Given the description of an element on the screen output the (x, y) to click on. 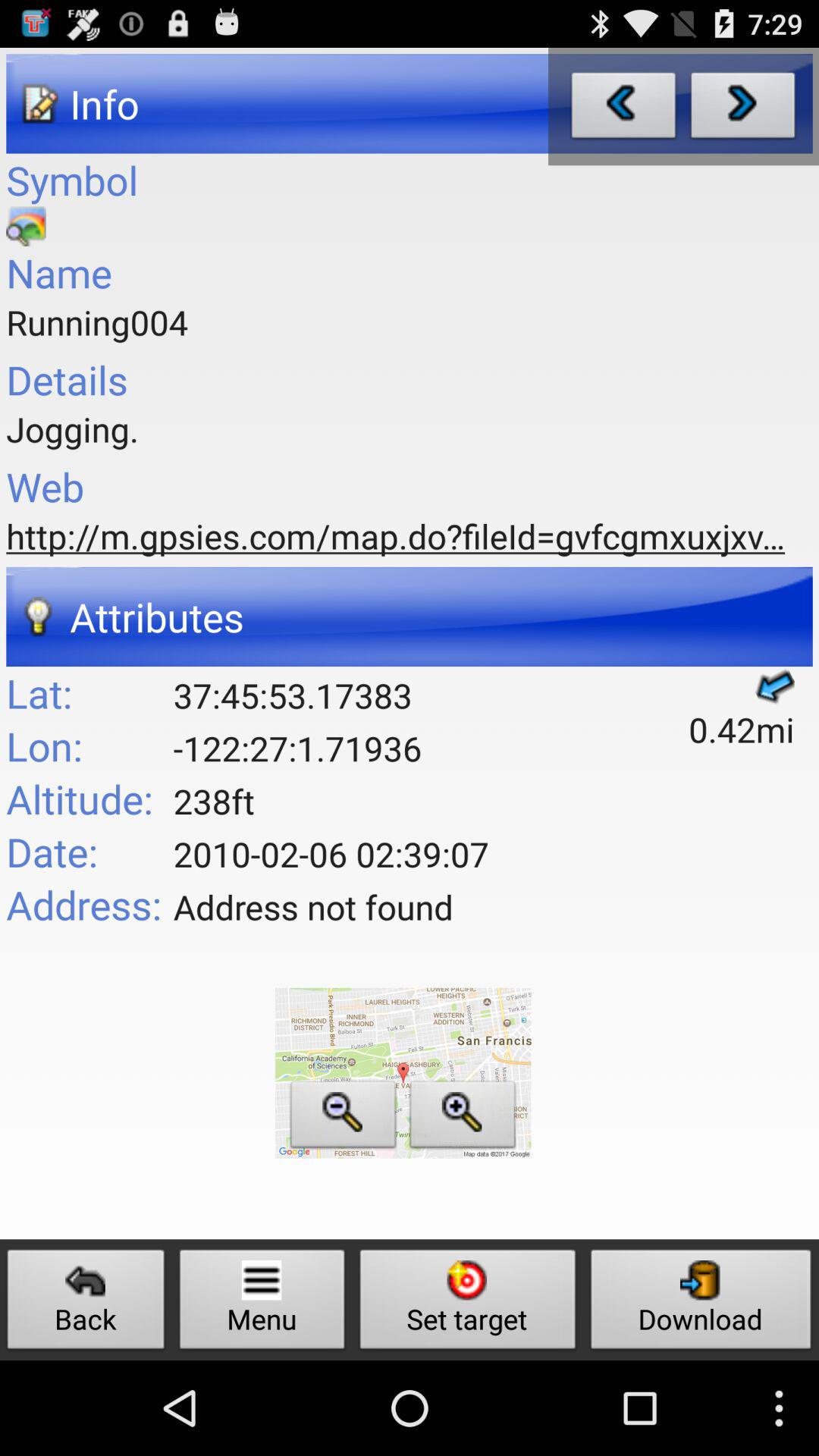
go to next (743, 109)
